Given the description of an element on the screen output the (x, y) to click on. 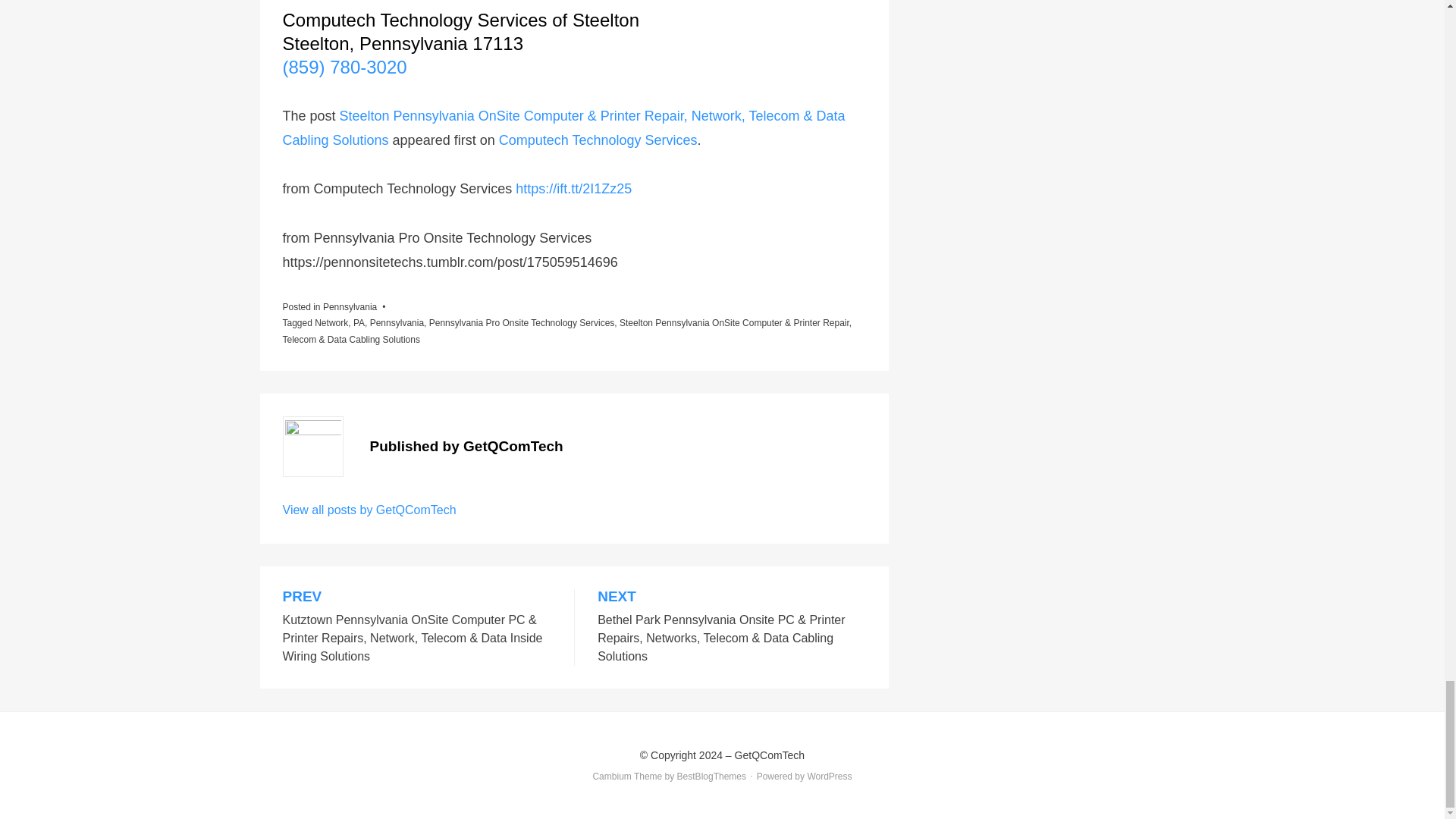
Computech Technology Services (598, 140)
BestBlogThemes (711, 776)
BestBlogThemes (711, 776)
Pennsylvania (350, 307)
GetQComTech (770, 755)
View all posts by GetQComTech (368, 509)
WordPress (828, 776)
Network (330, 322)
PA (359, 322)
Pennsylvania Pro Onsite Technology Services (521, 322)
